Given the description of an element on the screen output the (x, y) to click on. 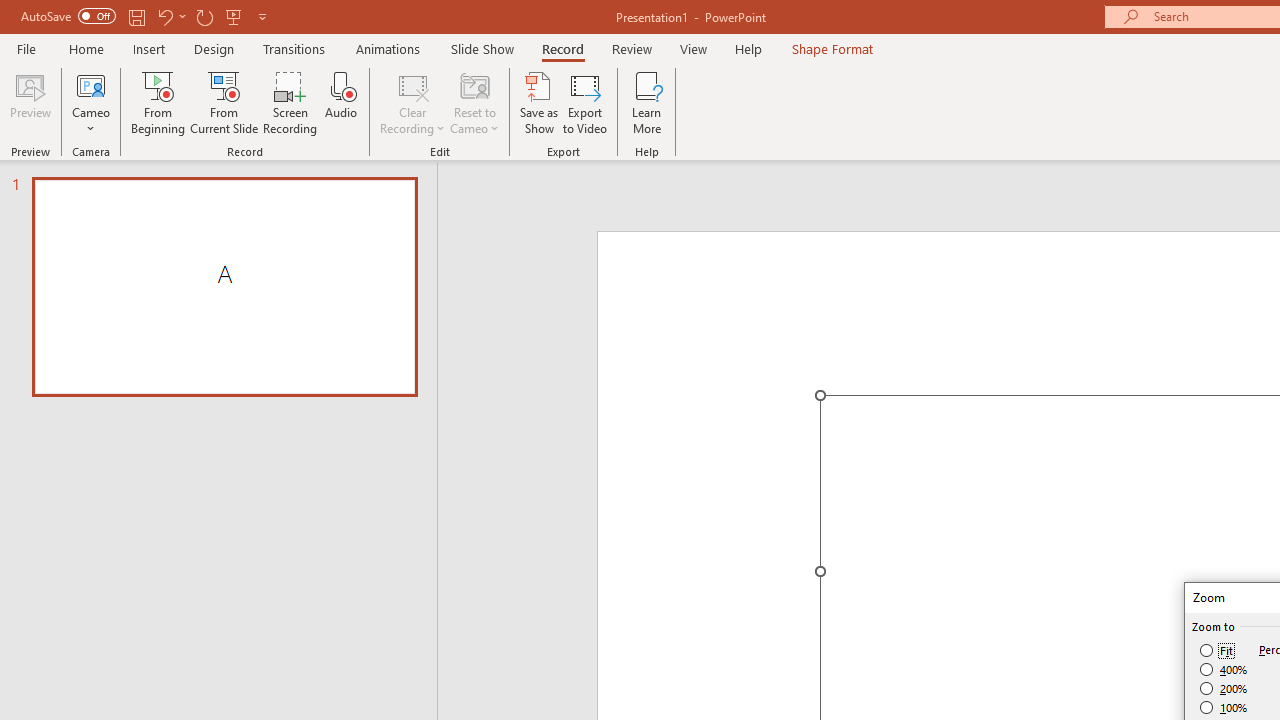
400% (1224, 669)
Save as Show (539, 102)
Screen Recording (290, 102)
From Current Slide... (224, 102)
Export to Video (585, 102)
